Given the description of an element on the screen output the (x, y) to click on. 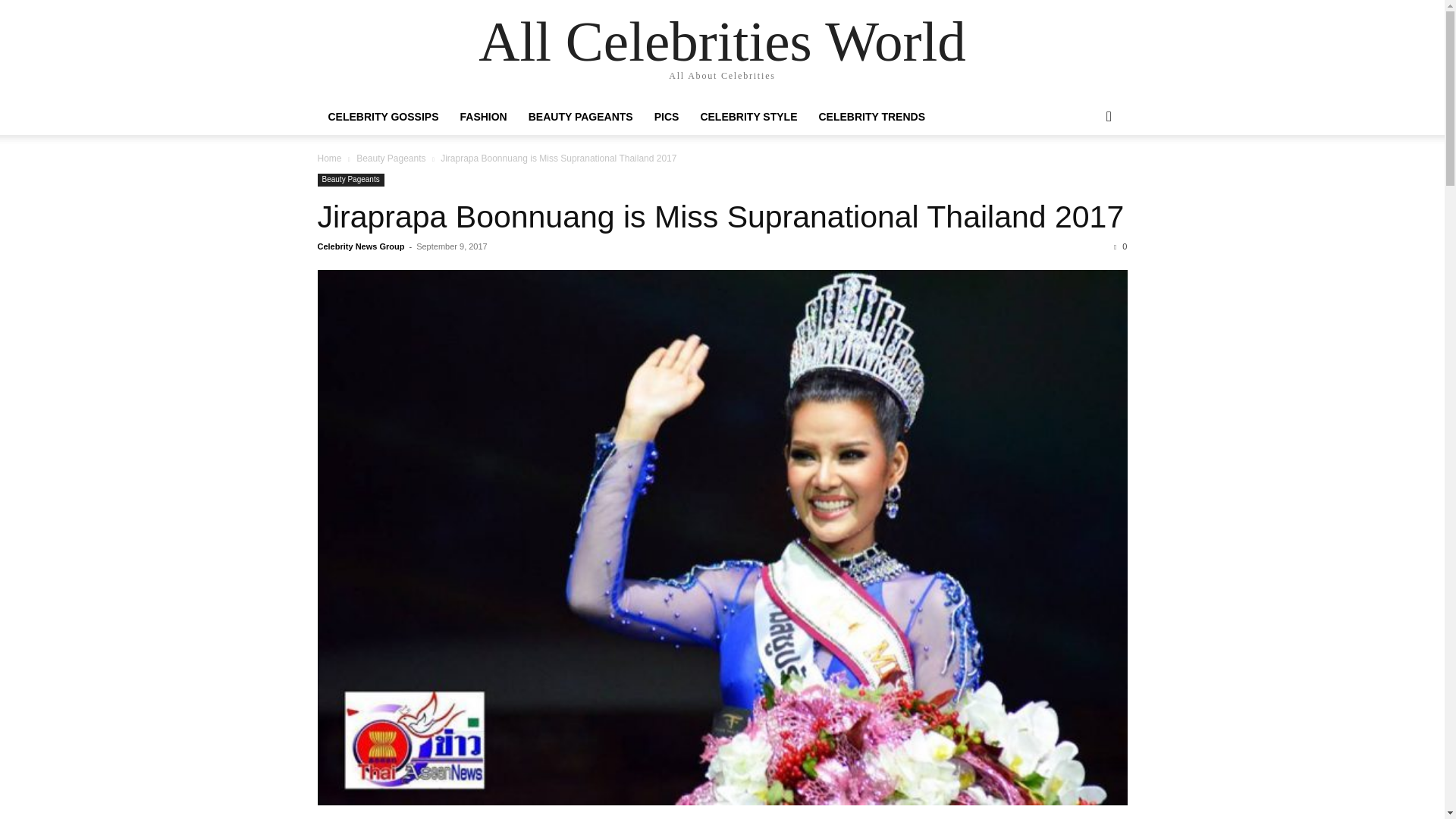
PICS (666, 116)
Beauty Pageants (350, 179)
All Celebrities World (722, 41)
Jiraprapa Boonnuang is Miss Supranational Thailand 2017 (720, 216)
Beauty Pageants (390, 158)
FASHION (482, 116)
CELEBRITY TRENDS (872, 116)
0 (1119, 245)
Home (328, 158)
